Given the description of an element on the screen output the (x, y) to click on. 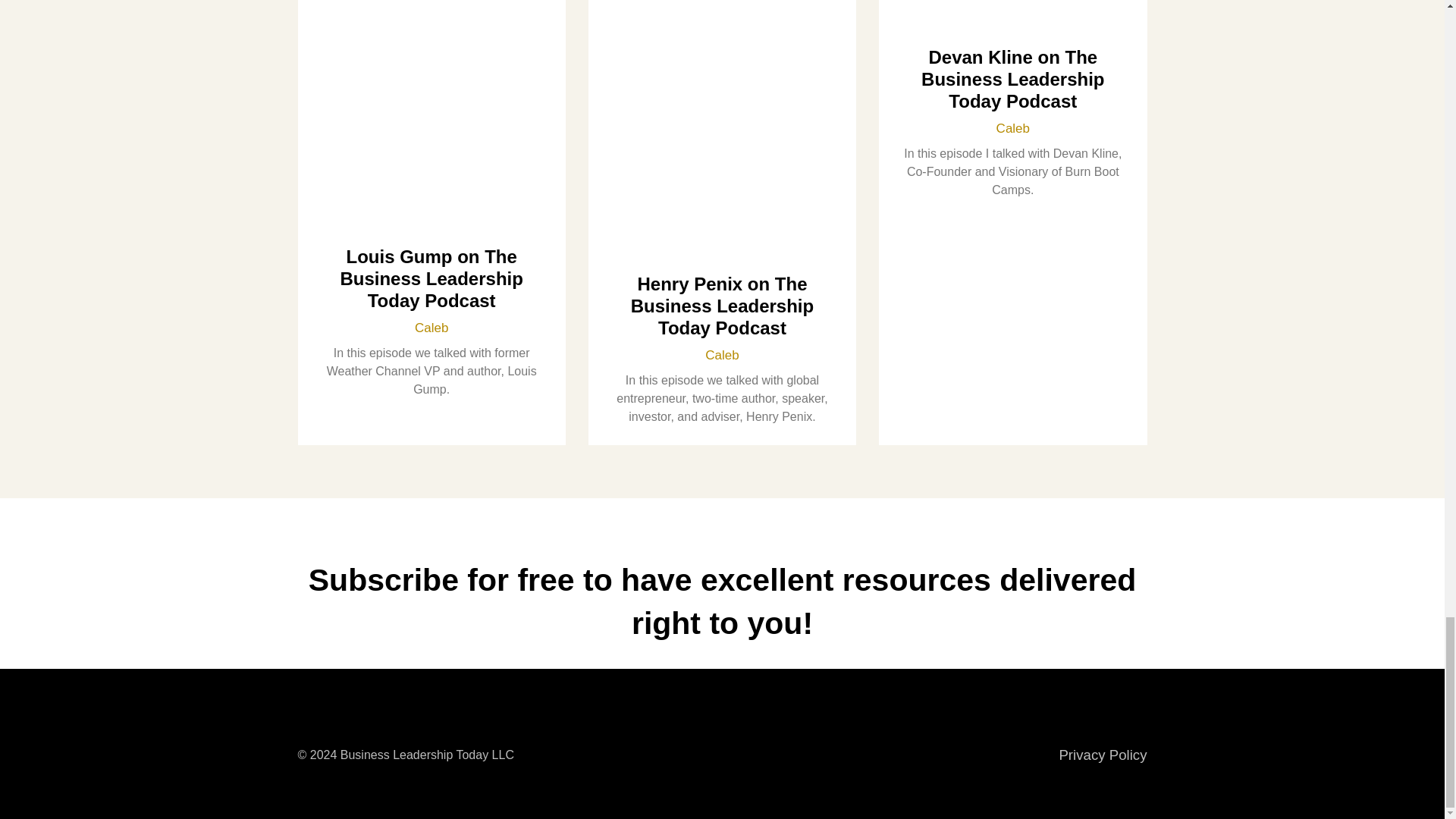
Privacy Policy (1102, 754)
Henry Penix on The Business Leadership Today Podcast (721, 305)
Devan Kline on The Business Leadership Today Podcast (1012, 78)
Louis Gump on The Business Leadership Today Podcast (430, 278)
